Given the description of an element on the screen output the (x, y) to click on. 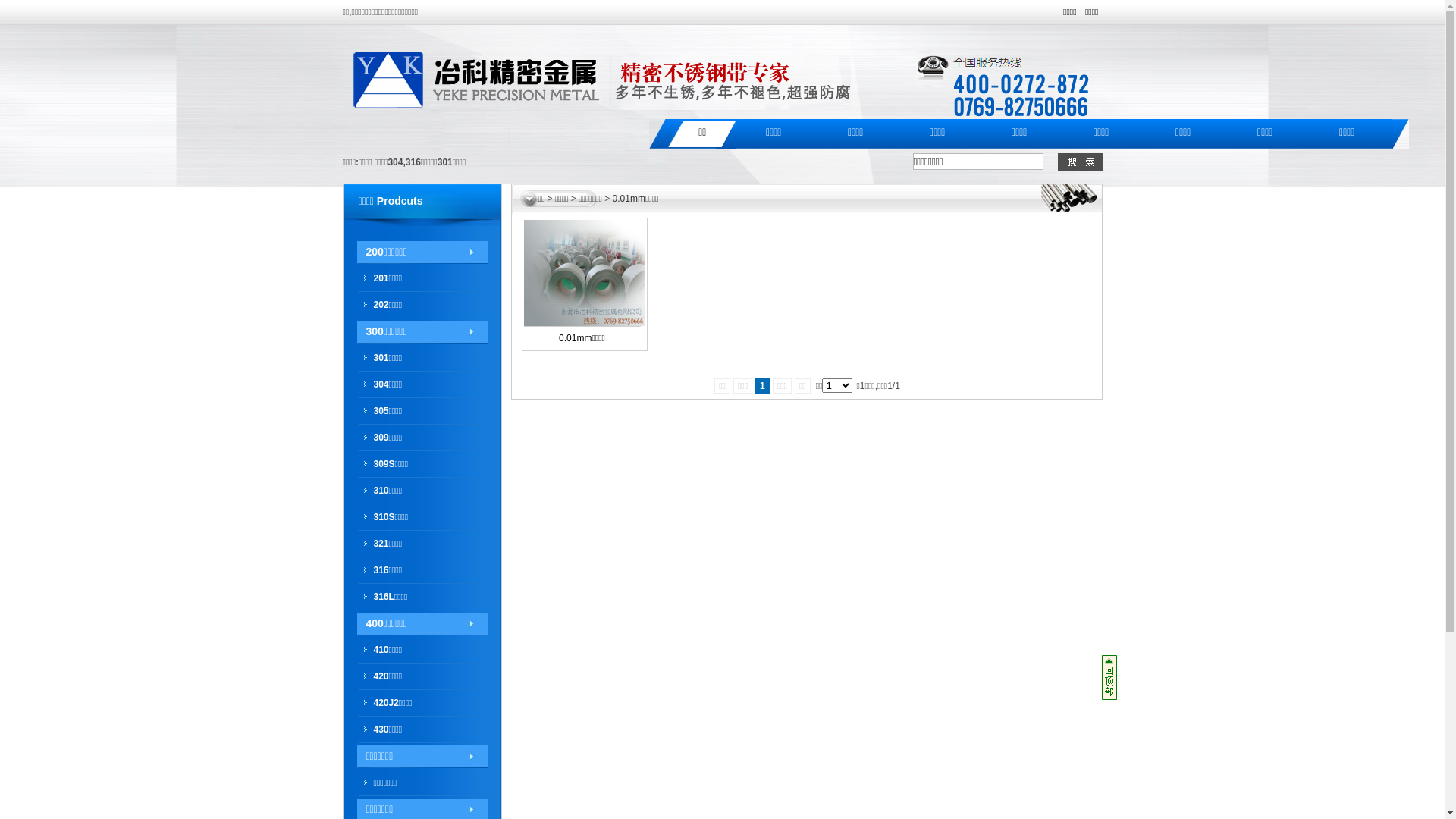
1 Element type: text (762, 385)
